Given the description of an element on the screen output the (x, y) to click on. 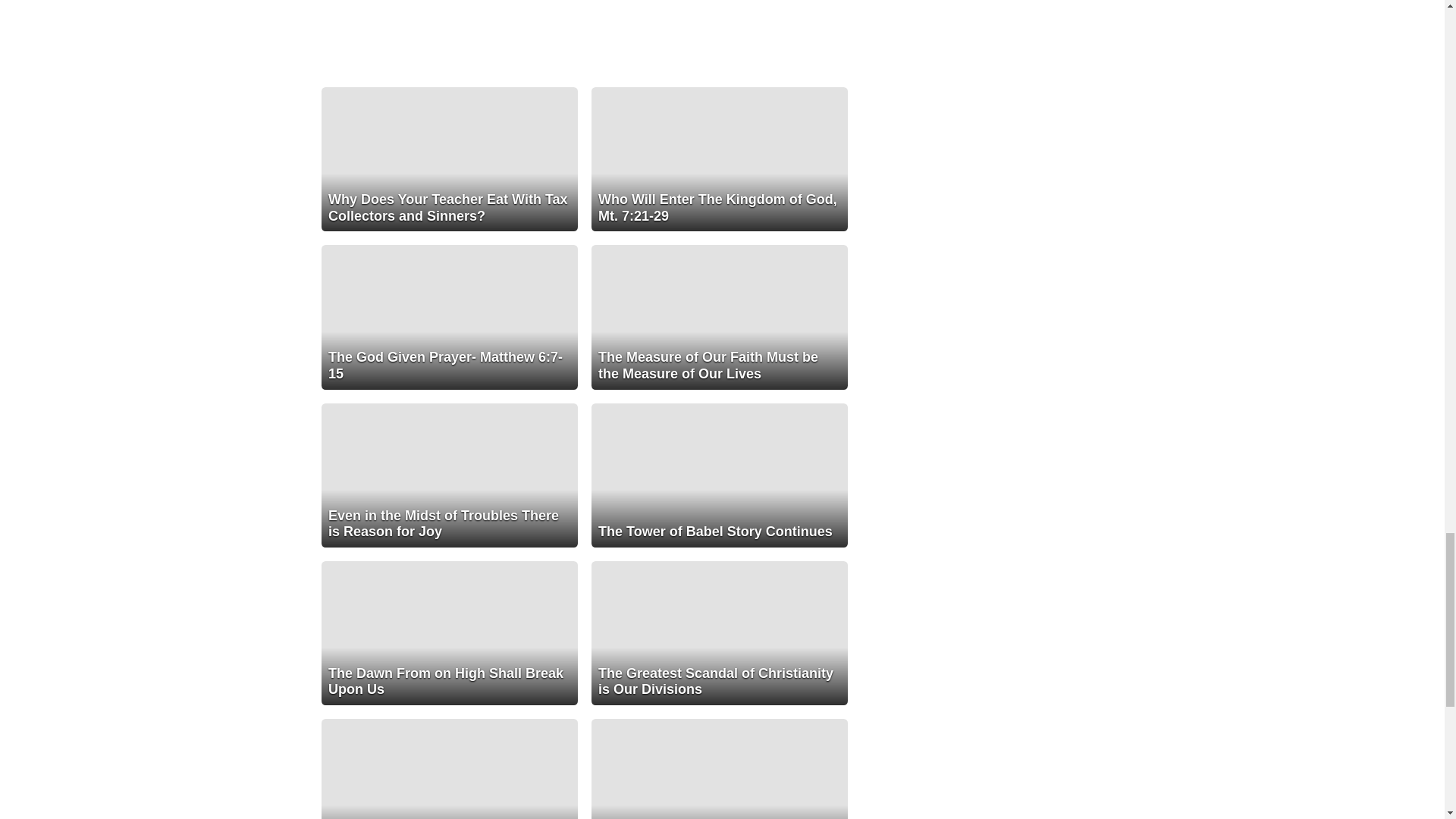
The Greatest Scandal of Christianity is Our Divisions (719, 633)
The Measure of Our Faith Must be the Measure of Our Lives (719, 316)
Even in the Midst of Troubles There is Reason for Joy (449, 475)
Thoughts on The Ascension of Our Lord Jesus Christ (449, 769)
The Tower of Babel Story Continues (719, 475)
Why Does Your Teacher Eat With Tax Collectors and Sinners? (449, 158)
The Dawn From on High Shall Break Upon Us (449, 633)
Remain in My Love (719, 769)
Who Will Enter The Kingdom of God, Mt. 7:21-29 (719, 158)
The God Given Prayer- Matthew 6:7-15 (449, 316)
